Given the description of an element on the screen output the (x, y) to click on. 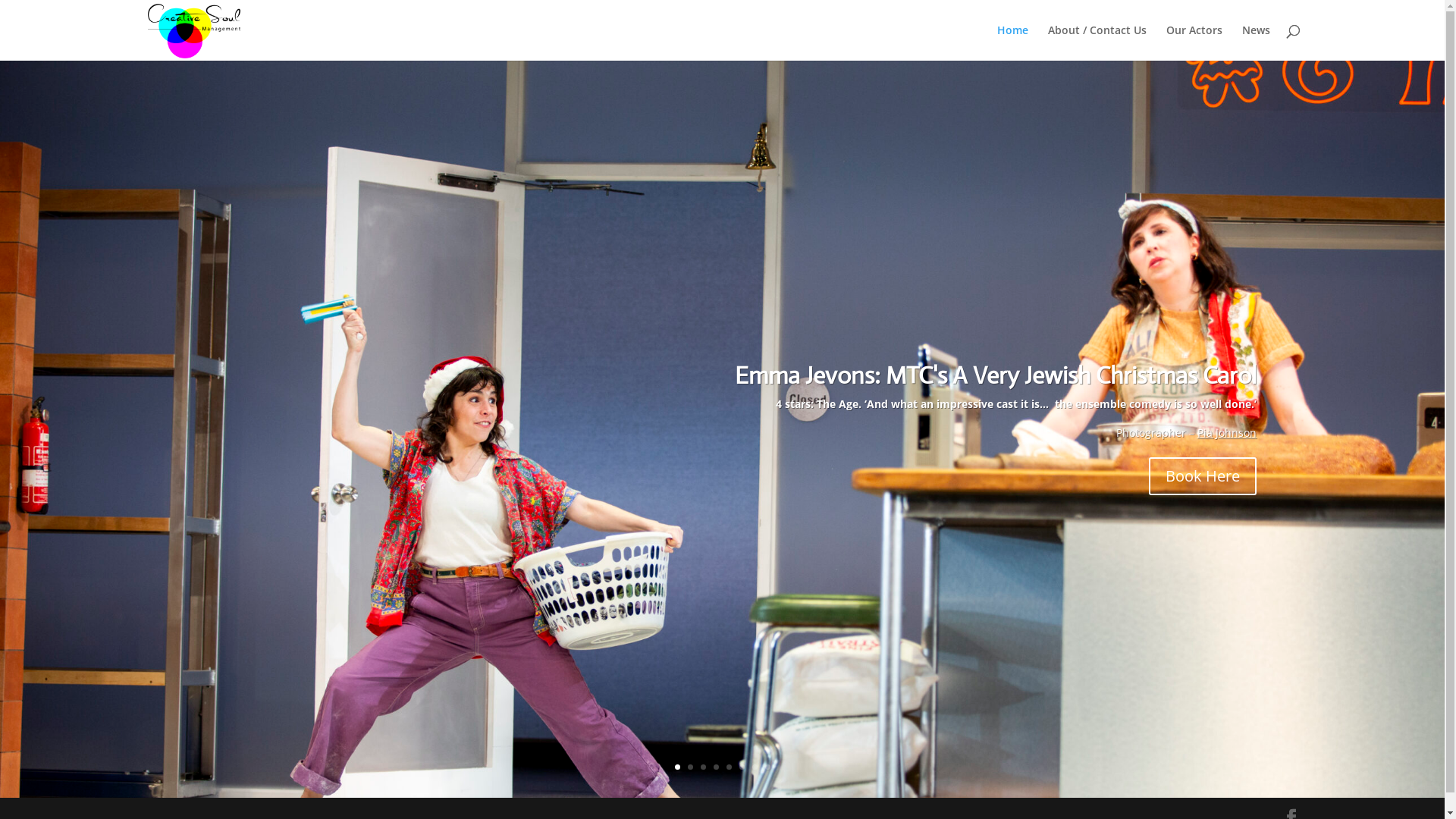
5 Element type: text (728, 766)
7 Element type: text (754, 766)
About / Contact Us Element type: text (1097, 42)
3 Element type: text (703, 766)
1 Element type: text (677, 766)
Emma Jevons: MTC's A Very Jewish Christmas Carol Element type: text (995, 375)
2 Element type: text (689, 766)
Our Actors Element type: text (1194, 42)
Book Here Element type: text (1202, 476)
News Element type: text (1256, 42)
Home Element type: text (1011, 42)
8 Element type: text (766, 766)
6 Element type: text (740, 766)
4 Element type: text (715, 766)
